Given the description of an element on the screen output the (x, y) to click on. 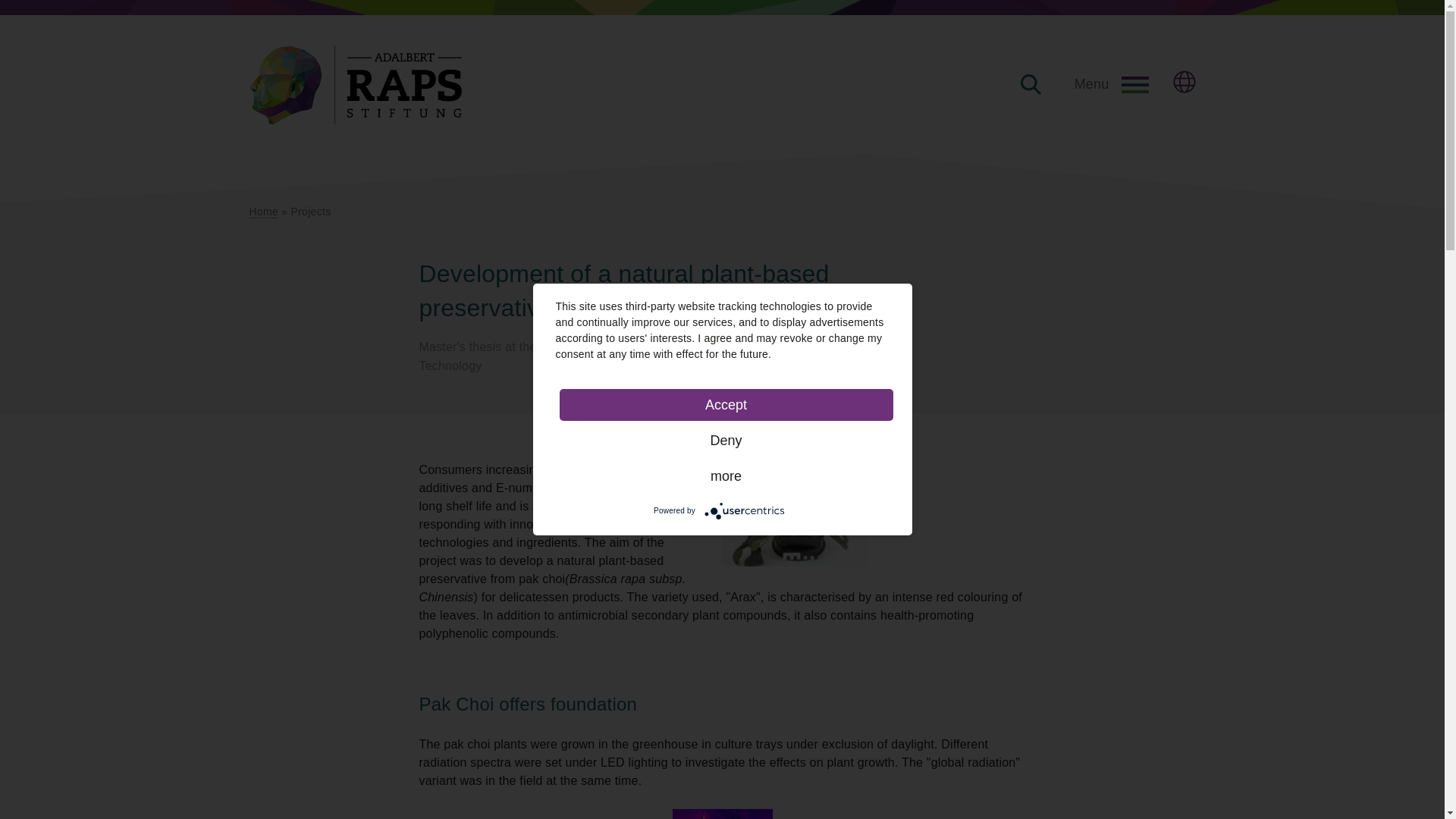
Home (263, 210)
